Given the description of an element on the screen output the (x, y) to click on. 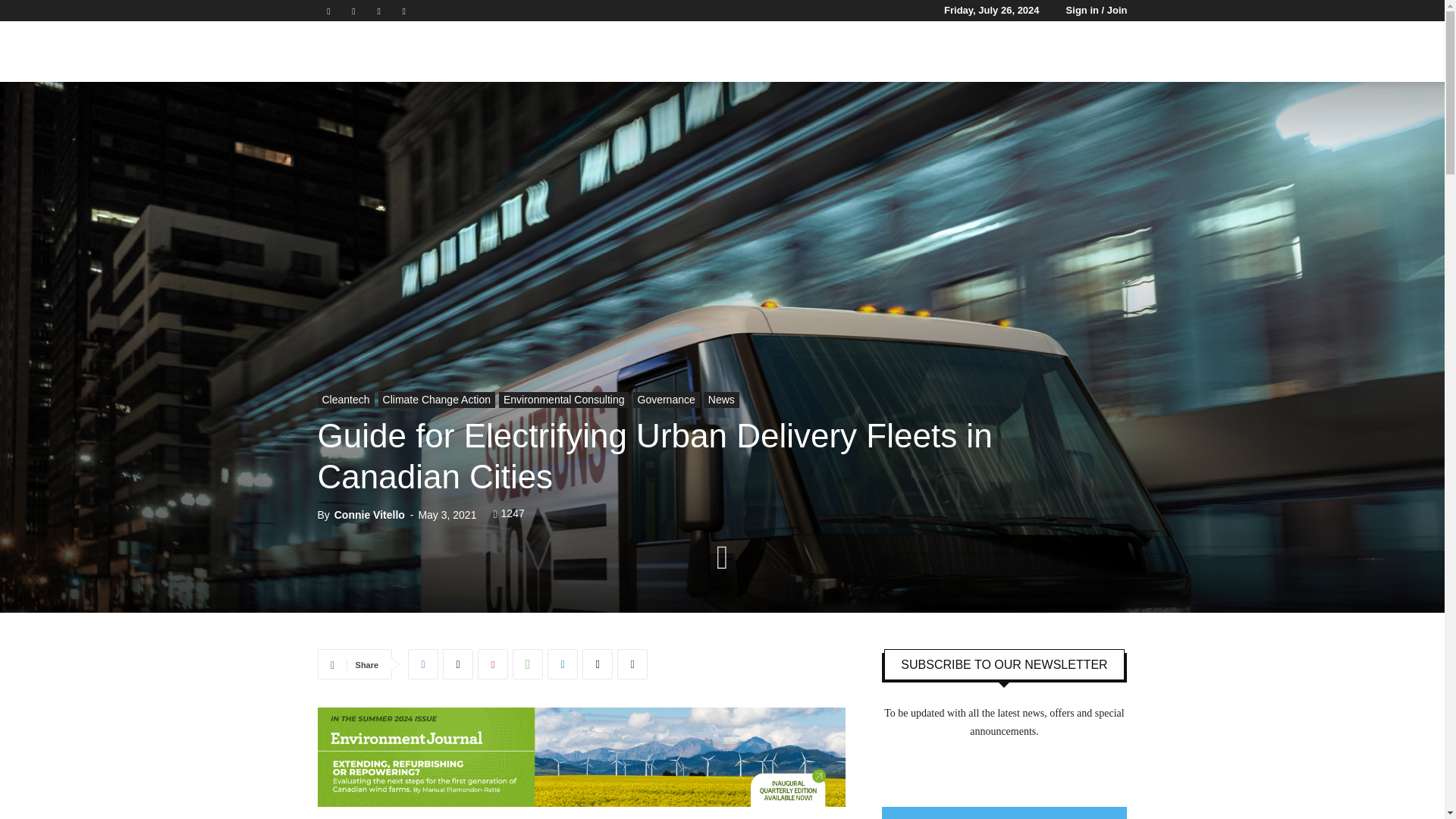
Facebook (422, 664)
SHOWCASE (913, 51)
Facebook (328, 10)
WhatsApp (527, 664)
Twitter (457, 664)
Twitter (379, 10)
The Environment Journal (361, 51)
EVENTS (833, 51)
Youtube (403, 10)
Pinterest (492, 664)
Search (1134, 124)
Linkedin (562, 664)
FEATURES (755, 51)
Linkedin (353, 10)
SUBSCRIBE (997, 51)
